Given the description of an element on the screen output the (x, y) to click on. 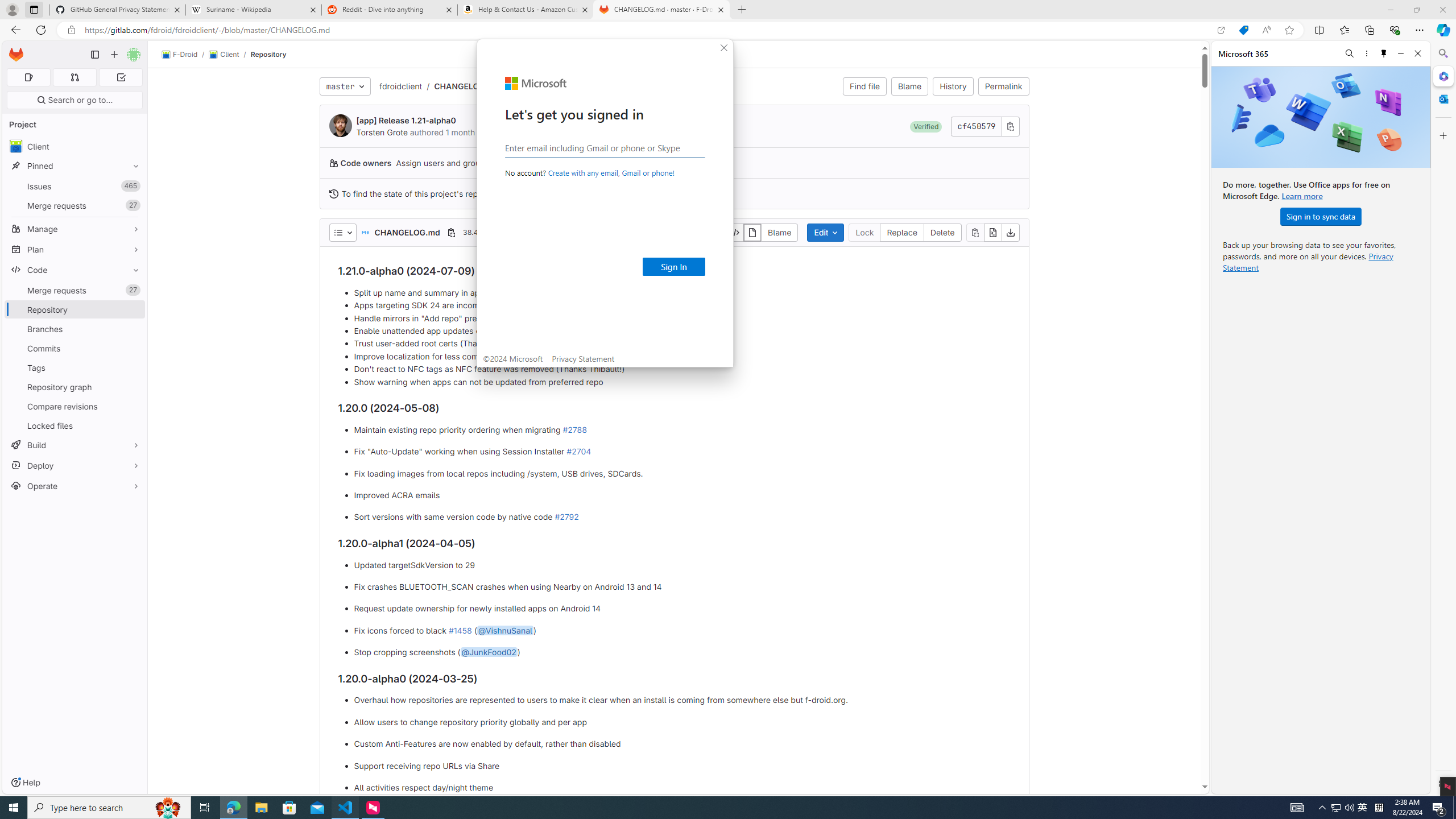
del.py (470, 29)
Edit (50, 9)
Debug Console (Ctrl+Shift+Y) (304, 539)
test.py (207, 29)
Ports (394, 539)
Python (1373, 789)
Timeline Section (99, 777)
CRLF (1336, 789)
Maximize Panel Size (1428, 539)
Problems (Ctrl+Shift+M) - Total 9 Problems (206, 539)
Find (1190, 60)
Close (Ctrl+F4) (496, 29)
